Given the description of an element on the screen output the (x, y) to click on. 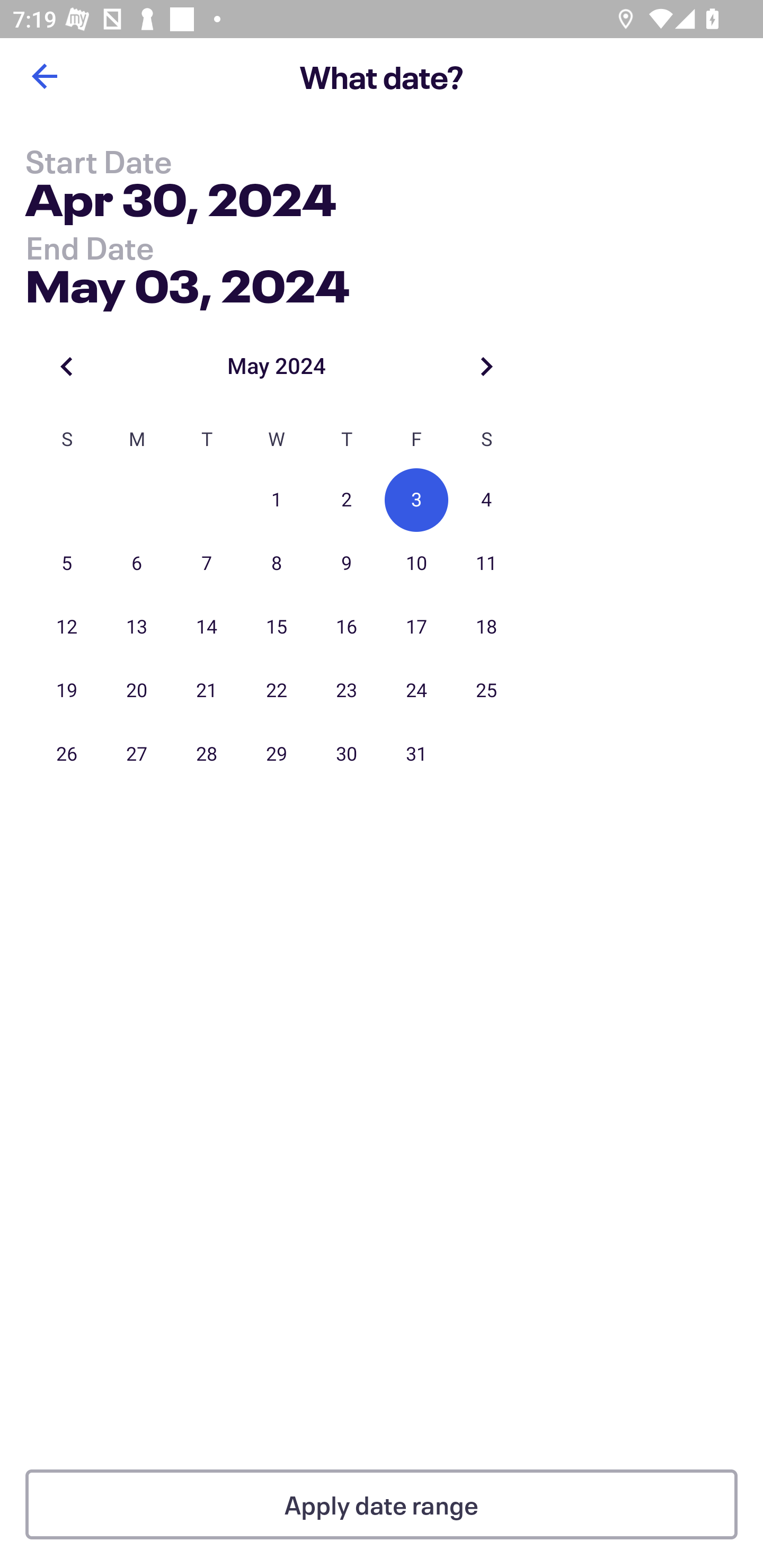
Back button (44, 75)
Apr 30, 2024 (180, 203)
May 03, 2024 (187, 282)
Previous month (66, 365)
Next month (486, 365)
1 01 May 2024 (276, 499)
2 02 May 2024 (346, 499)
3 03 May 2024 (416, 499)
4 04 May 2024 (486, 499)
5 05 May 2024 (66, 563)
6 06 May 2024 (136, 563)
7 07 May 2024 (206, 563)
8 08 May 2024 (276, 563)
9 09 May 2024 (346, 563)
10 10 May 2024 (416, 563)
11 11 May 2024 (486, 563)
12 12 May 2024 (66, 626)
13 13 May 2024 (136, 626)
14 14 May 2024 (206, 626)
15 15 May 2024 (276, 626)
16 16 May 2024 (346, 626)
17 17 May 2024 (416, 626)
18 18 May 2024 (486, 626)
19 19 May 2024 (66, 690)
20 20 May 2024 (136, 690)
21 21 May 2024 (206, 690)
22 22 May 2024 (276, 690)
23 23 May 2024 (346, 690)
24 24 May 2024 (416, 690)
25 25 May 2024 (486, 690)
26 26 May 2024 (66, 753)
27 27 May 2024 (136, 753)
28 28 May 2024 (206, 753)
29 29 May 2024 (276, 753)
30 30 May 2024 (346, 753)
31 31 May 2024 (416, 753)
Apply date range (381, 1504)
